Given the description of an element on the screen output the (x, y) to click on. 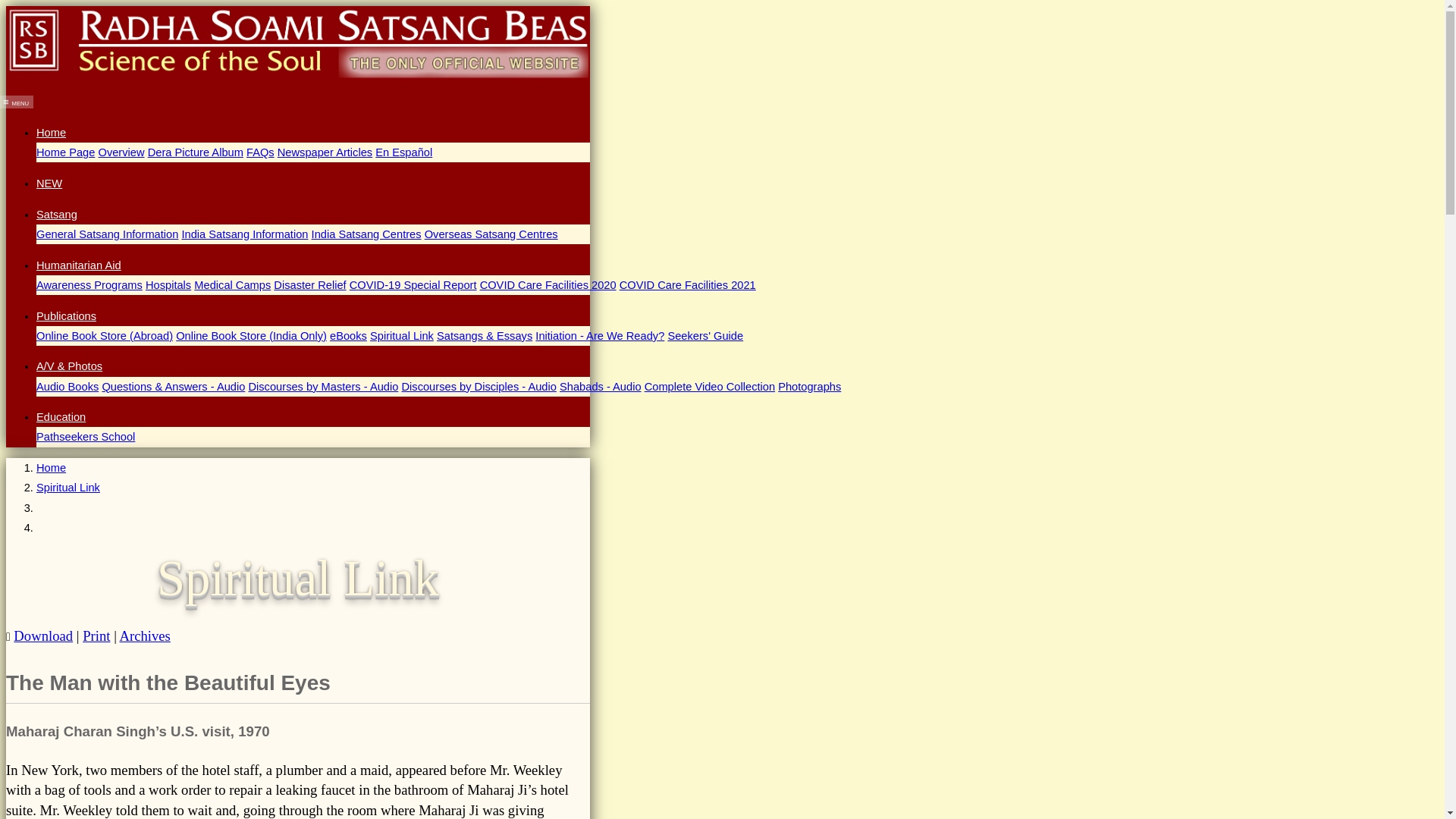
Hospitals (167, 285)
Medical Camps (231, 285)
Dera Picture Album (195, 152)
COVID Care Facilities 2020 (547, 285)
Overseas Satsang Centres (491, 234)
India Satsang Information (243, 234)
COVID Care Facilities 2021 (687, 285)
Audio Books (67, 386)
Initiation - Are We Ready? (599, 336)
COVID-19 Special Report (413, 285)
Pathseekers School (85, 436)
Complete Video Collection (709, 386)
General Satsang Information (106, 234)
Shabads - Audio (600, 386)
India Satsang Centres (366, 234)
